Given the description of an element on the screen output the (x, y) to click on. 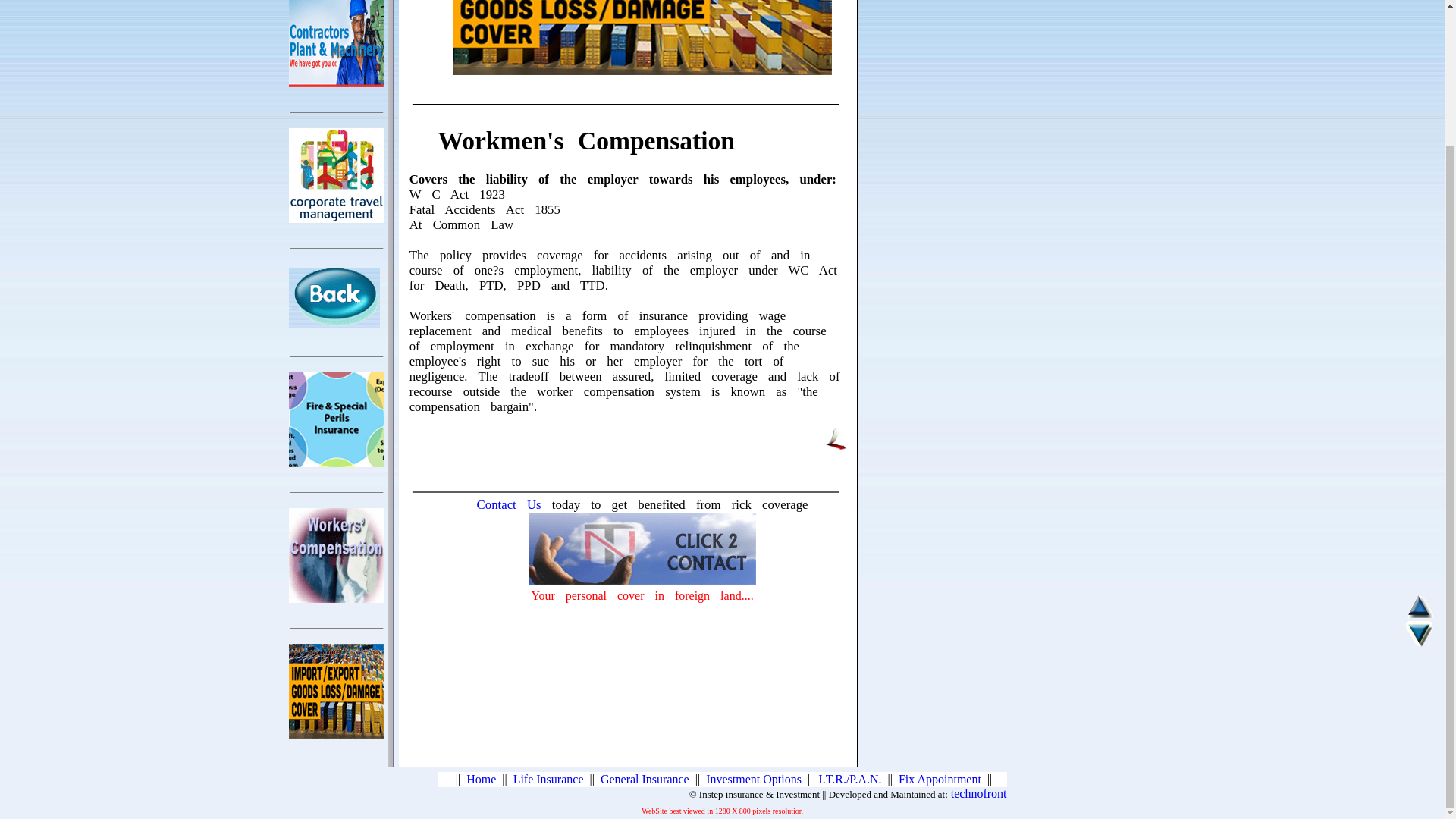
General Insurance (643, 779)
Life Insurance (548, 779)
Investment Options (754, 779)
Home (480, 779)
Contact Us (514, 504)
Fix Appointment (939, 779)
technofront (978, 793)
